Given the description of an element on the screen output the (x, y) to click on. 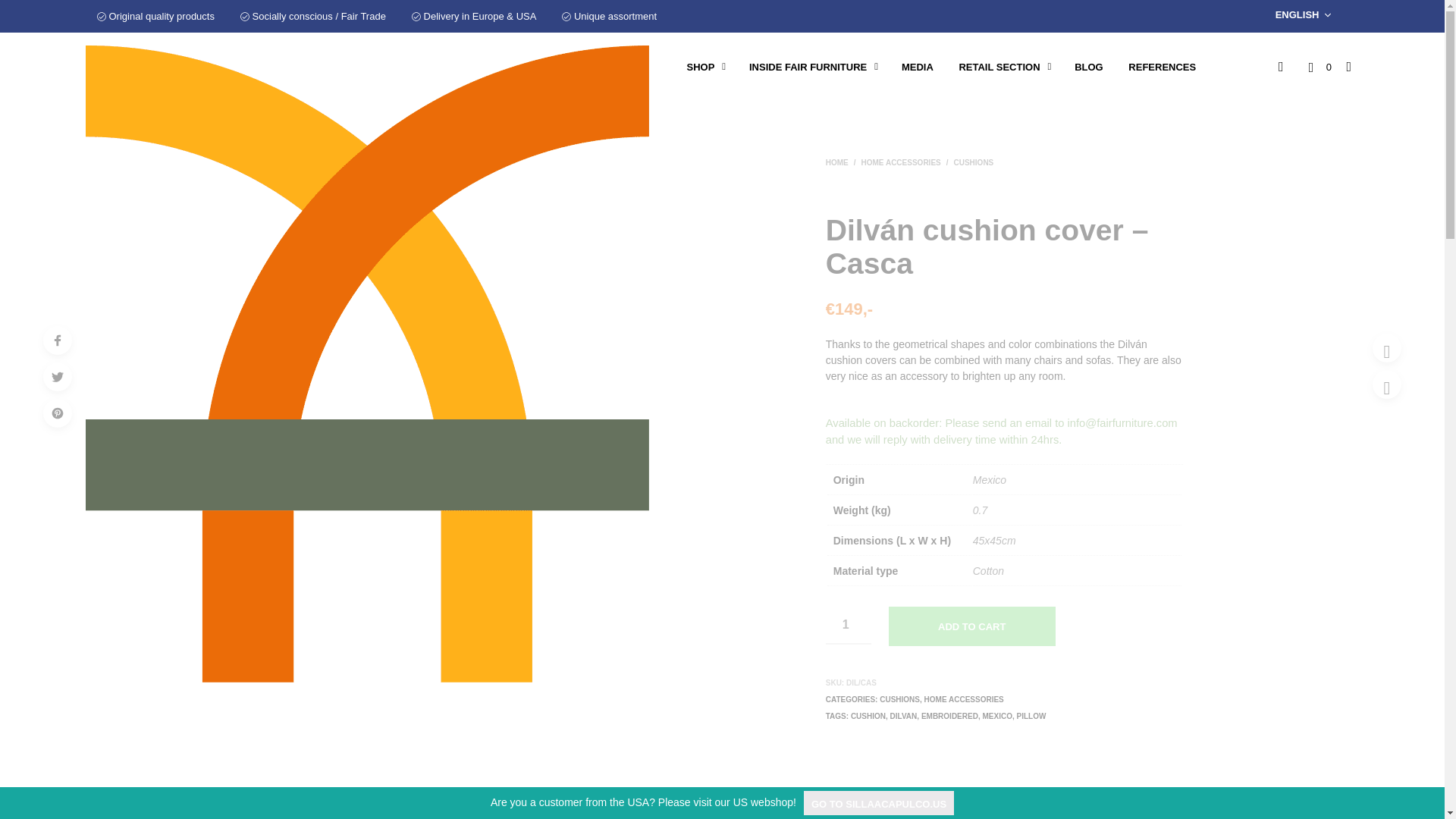
ENGLISH (1305, 15)
SHOP (700, 67)
Qty (847, 625)
REFERENCES (1161, 67)
RETAIL SECTION (999, 67)
INSIDE FAIR FURNITURE (807, 67)
MEDIA (916, 67)
Unique assortment (609, 16)
Original quality products (154, 16)
1 (847, 625)
